Given the description of an element on the screen output the (x, y) to click on. 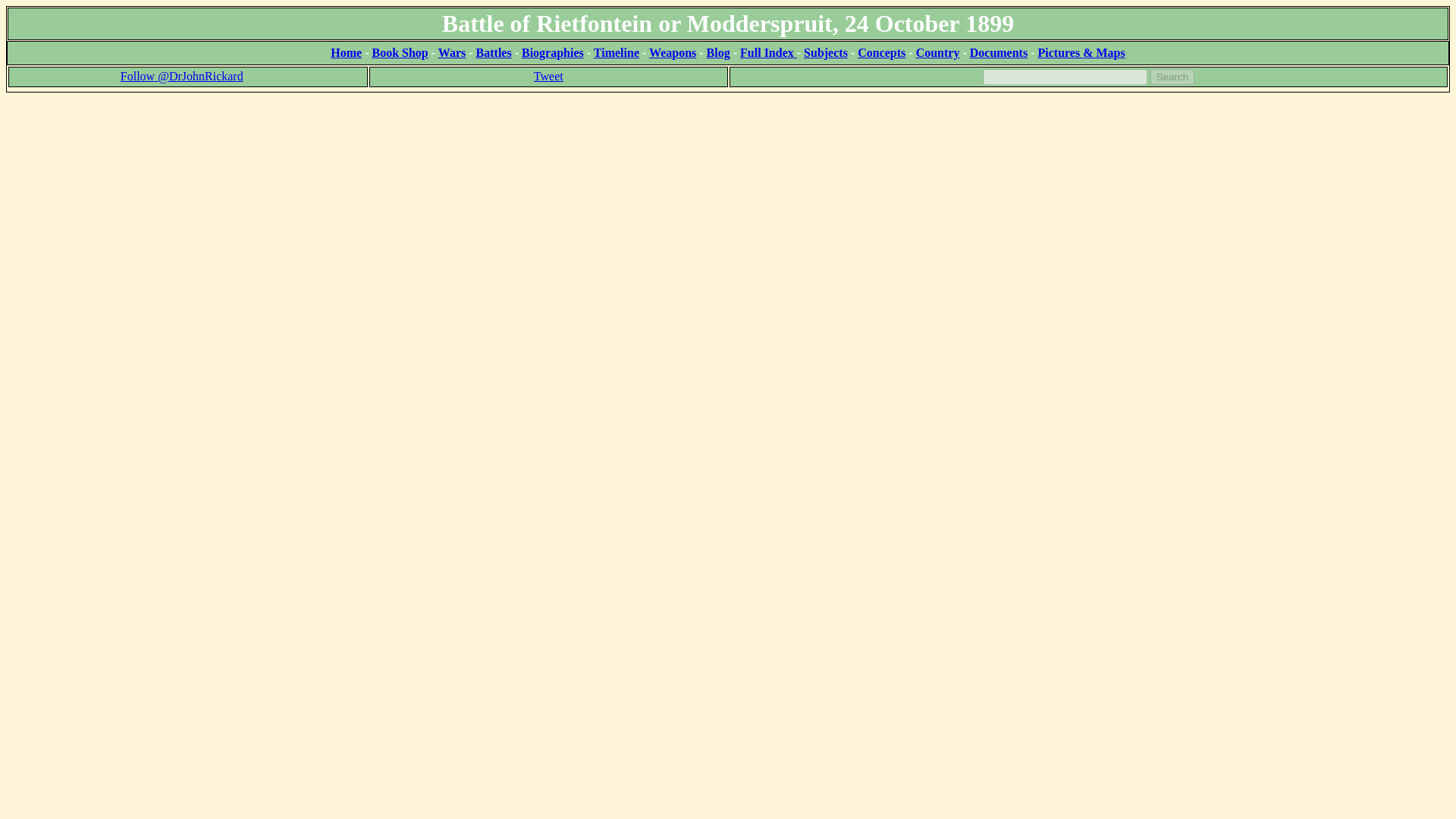
Our Military History Bookshop (399, 51)
Concepts (881, 51)
Index of biographies (552, 51)
Return to Home Page (345, 51)
Index of articles on Wars (451, 51)
Timeline (616, 51)
Link to our discussion forum (1080, 51)
Index of articles on military concepts (881, 51)
Index of articles on Battles (494, 51)
Wars (451, 51)
